Given the description of an element on the screen output the (x, y) to click on. 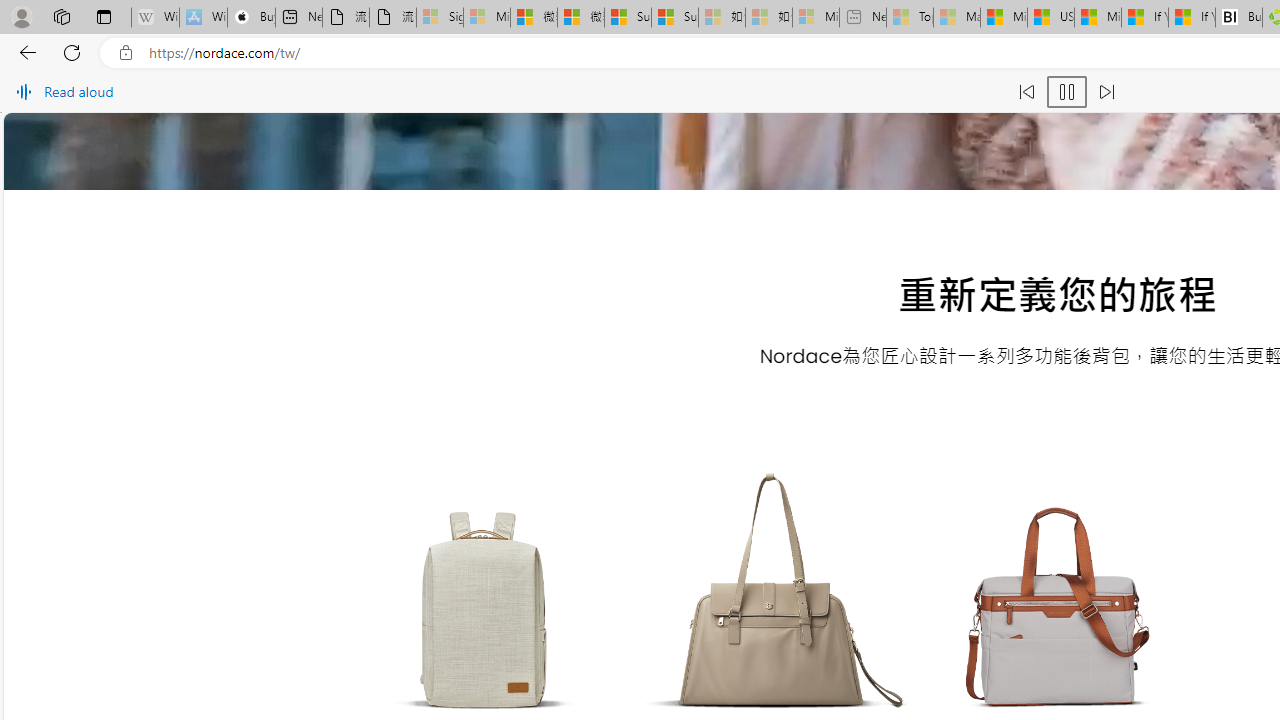
Read next paragraph (1105, 92)
Sign in to your Microsoft account - Sleeping (440, 17)
